Given the description of an element on the screen output the (x, y) to click on. 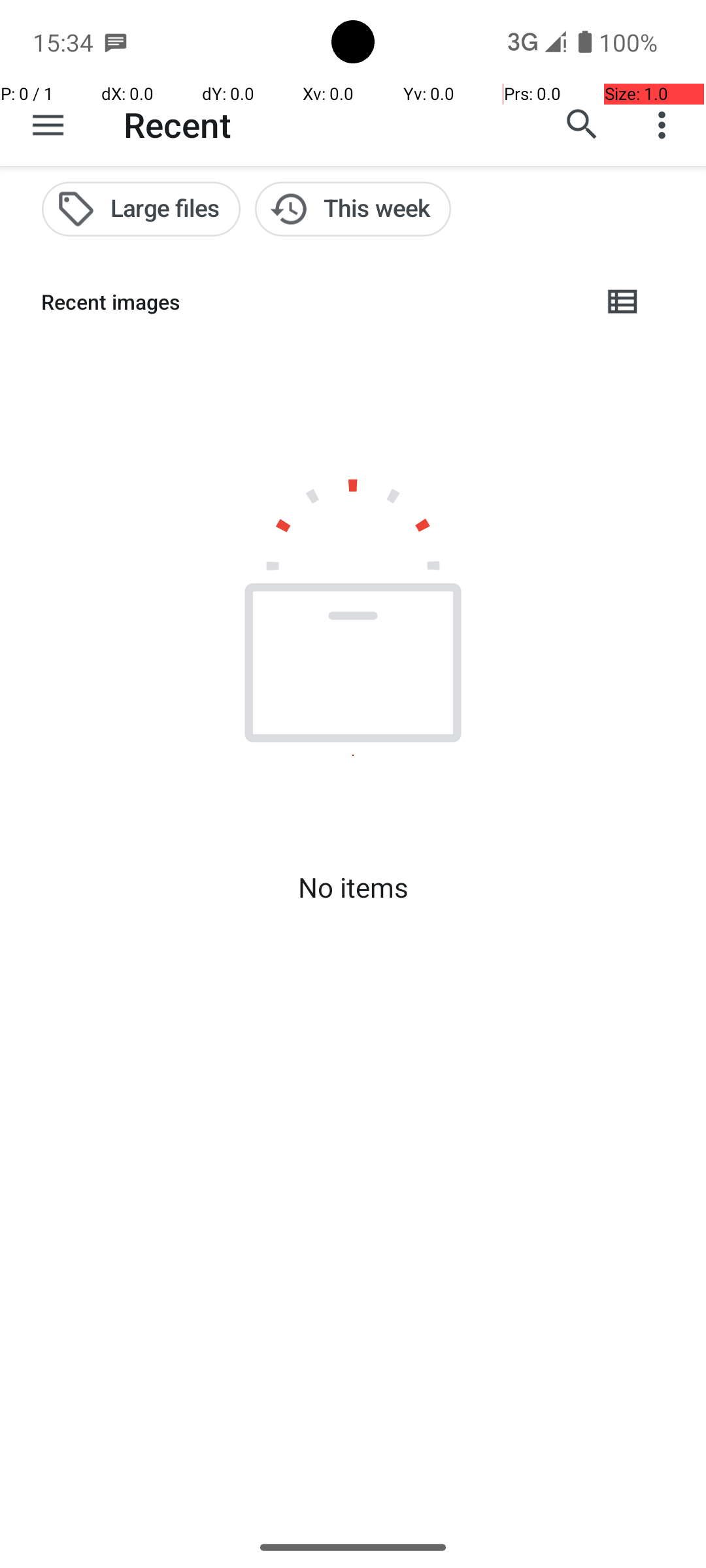
Recent images Element type: android.widget.TextView (311, 301)
